Given the description of an element on the screen output the (x, y) to click on. 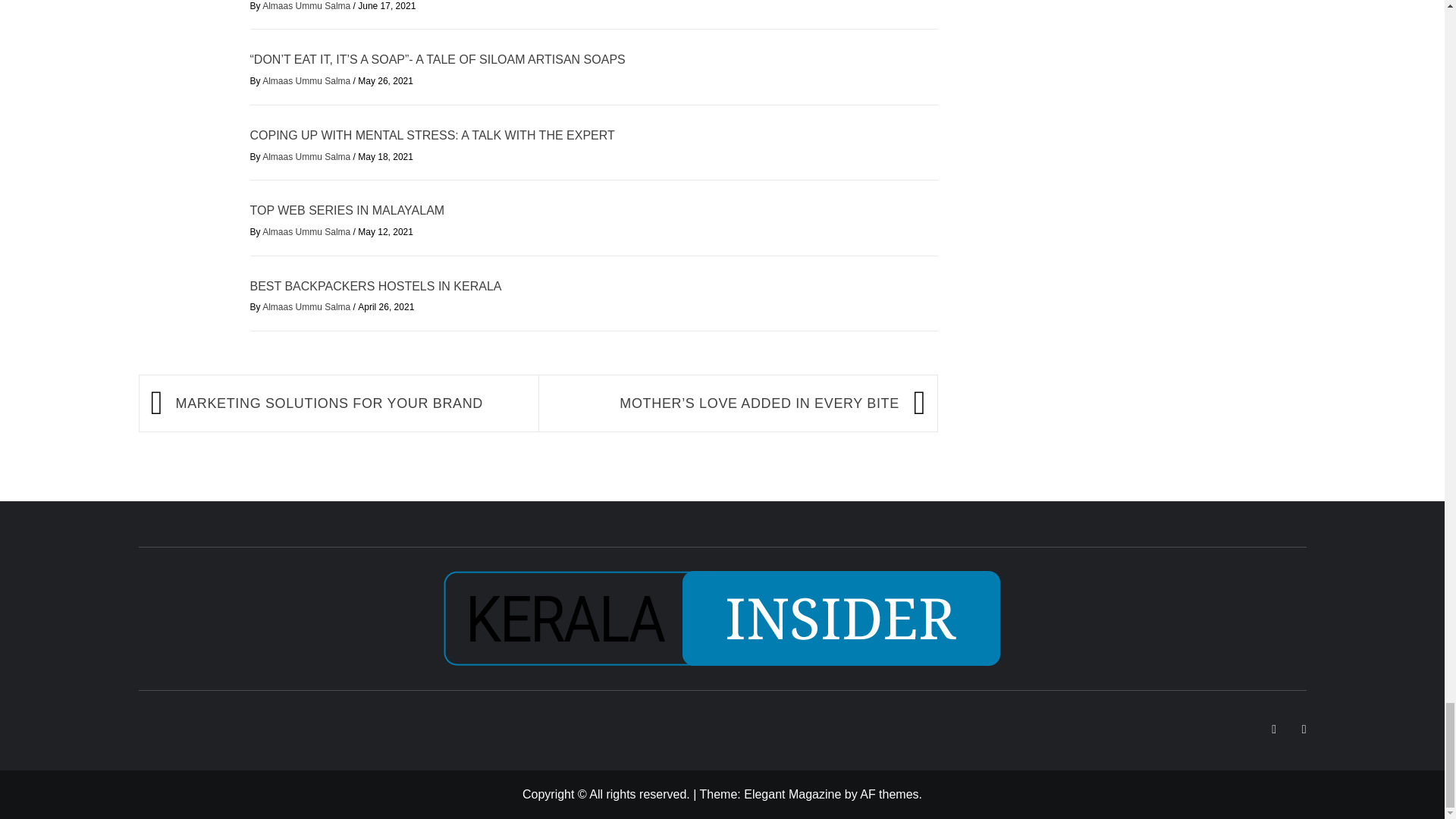
BEST BACKPACKERS HOSTELS IN KERALA (376, 286)
TOP WEB SERIES IN MALAYALAM (347, 210)
Almaas Ummu Salma (307, 156)
Almaas Ummu Salma (307, 81)
Almaas Ummu Salma (307, 231)
COPING UP WITH MENTAL STRESS: A TALK WITH THE EXPERT (432, 134)
MARKETING SOLUTIONS FOR YOUR BRAND (349, 403)
Almaas Ummu Salma (307, 5)
Almaas Ummu Salma (307, 307)
